Given the description of an element on the screen output the (x, y) to click on. 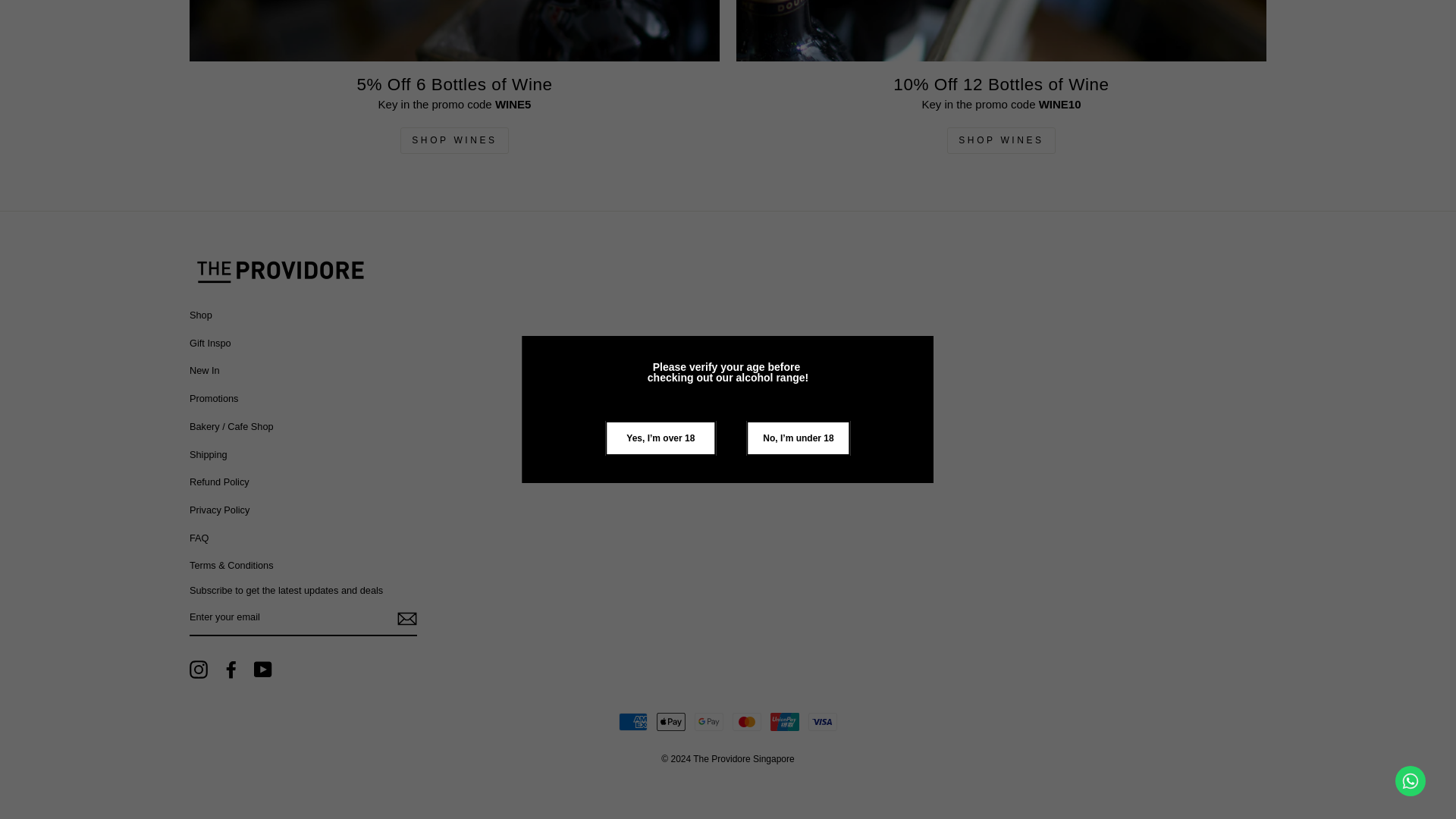
Union Pay (784, 721)
Visa (822, 721)
American Express (632, 721)
Mastercard (746, 721)
Apple Pay (670, 721)
Google Pay (708, 721)
